Given the description of an element on the screen output the (x, y) to click on. 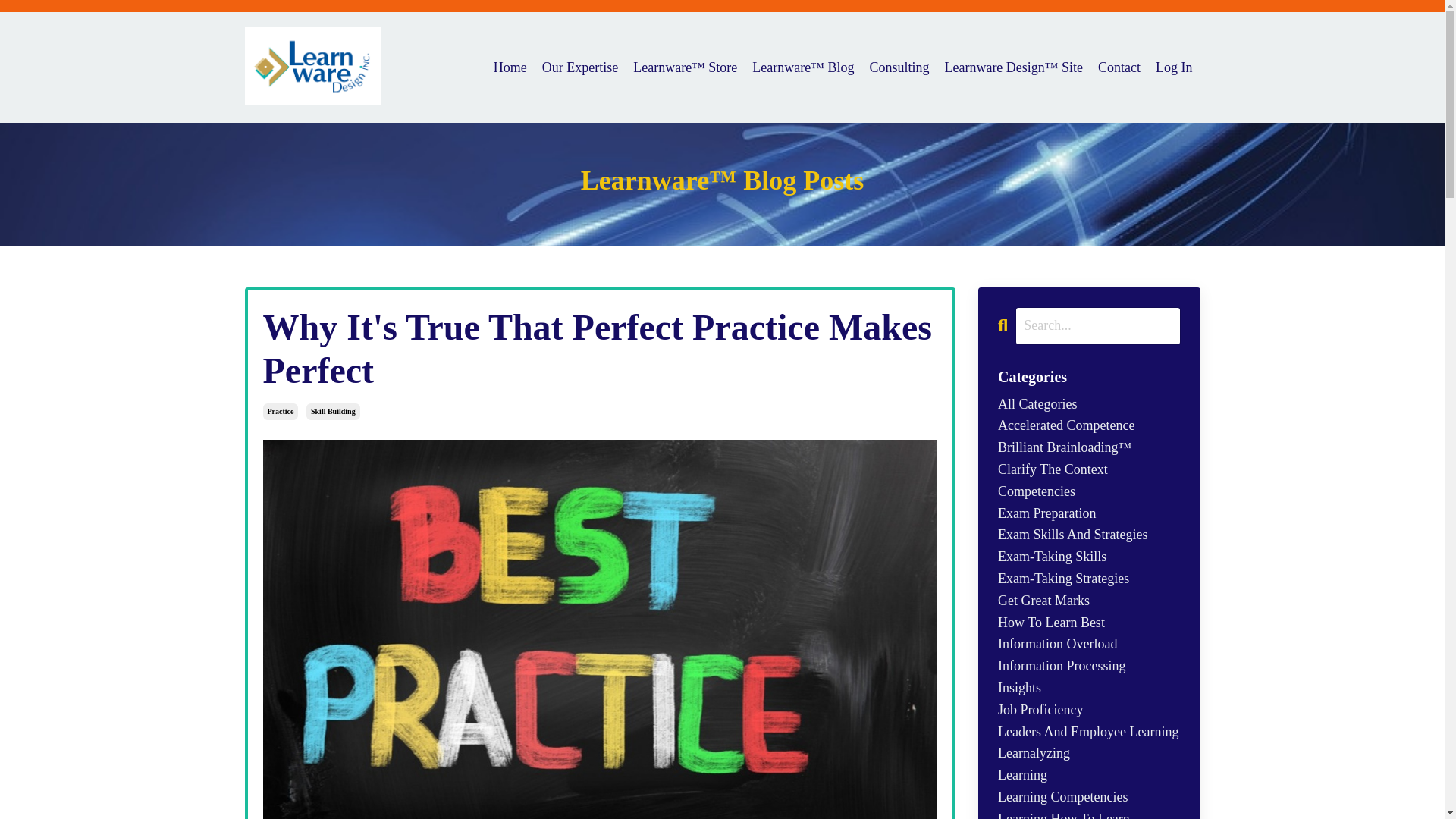
Skill Building (332, 411)
Job Proficiency (1088, 710)
Get Great Marks (1088, 600)
Exam Preparation (1088, 513)
Exam Skills And Strategies (1088, 535)
Home (510, 67)
Information Processing (1088, 666)
Accelerated Competence (1088, 425)
Exam-Taking Strategies (1088, 578)
Learning Competencies (1088, 797)
